Given the description of an element on the screen output the (x, y) to click on. 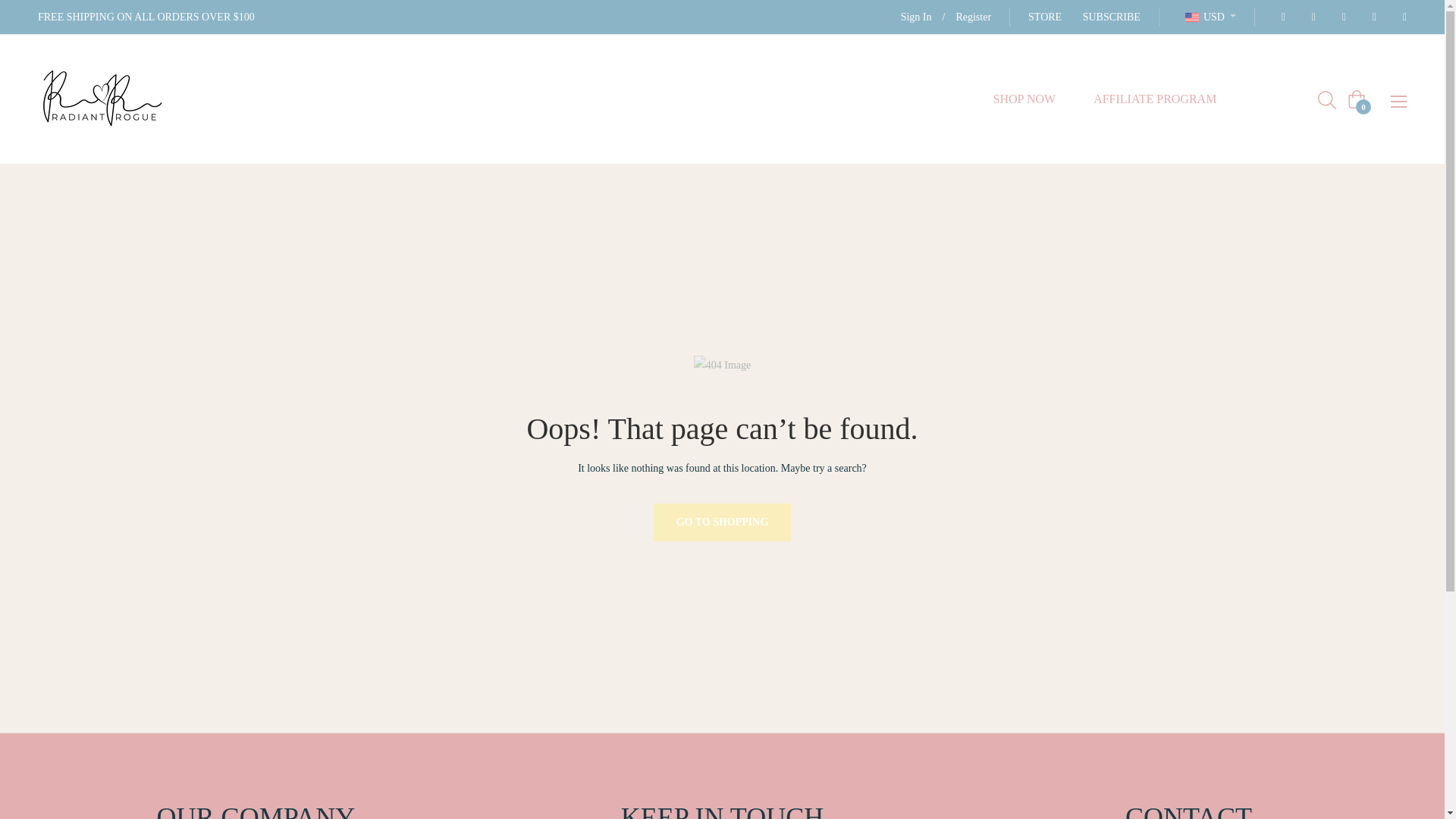
Register (973, 17)
SHOP NOW (1024, 99)
Radiant Rogue on YouTube (1400, 16)
Shopping Cart (1356, 99)
Radiant Rogue on Facebook (1278, 16)
Sign In (916, 17)
SUBSCRIBE (1111, 16)
Currencies (1210, 16)
Radiant Rogue on Twitter (1309, 16)
Radiant Rogue on Instagram (1369, 16)
STORE (1044, 16)
AFFILIATE PROGRAM (1154, 99)
Radiant Rogue on Pinterest (1339, 16)
